Given the description of an element on the screen output the (x, y) to click on. 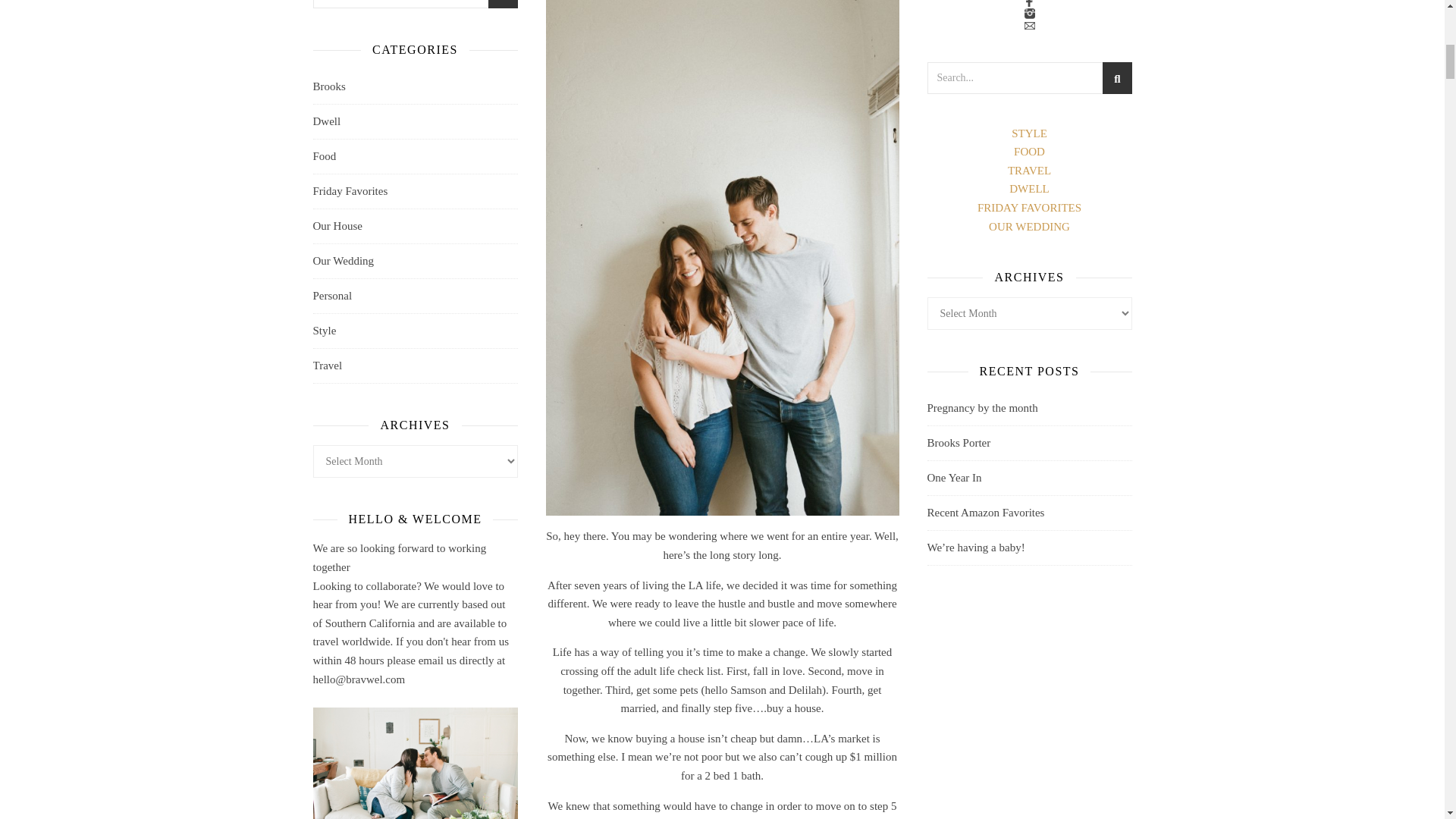
Style (324, 330)
Food (324, 156)
Brooks (329, 86)
Dwell (326, 121)
Our House (337, 226)
Our Wedding (343, 261)
Friday Favorites (350, 191)
st (501, 6)
Personal (332, 295)
Travel (327, 365)
